Given the description of an element on the screen output the (x, y) to click on. 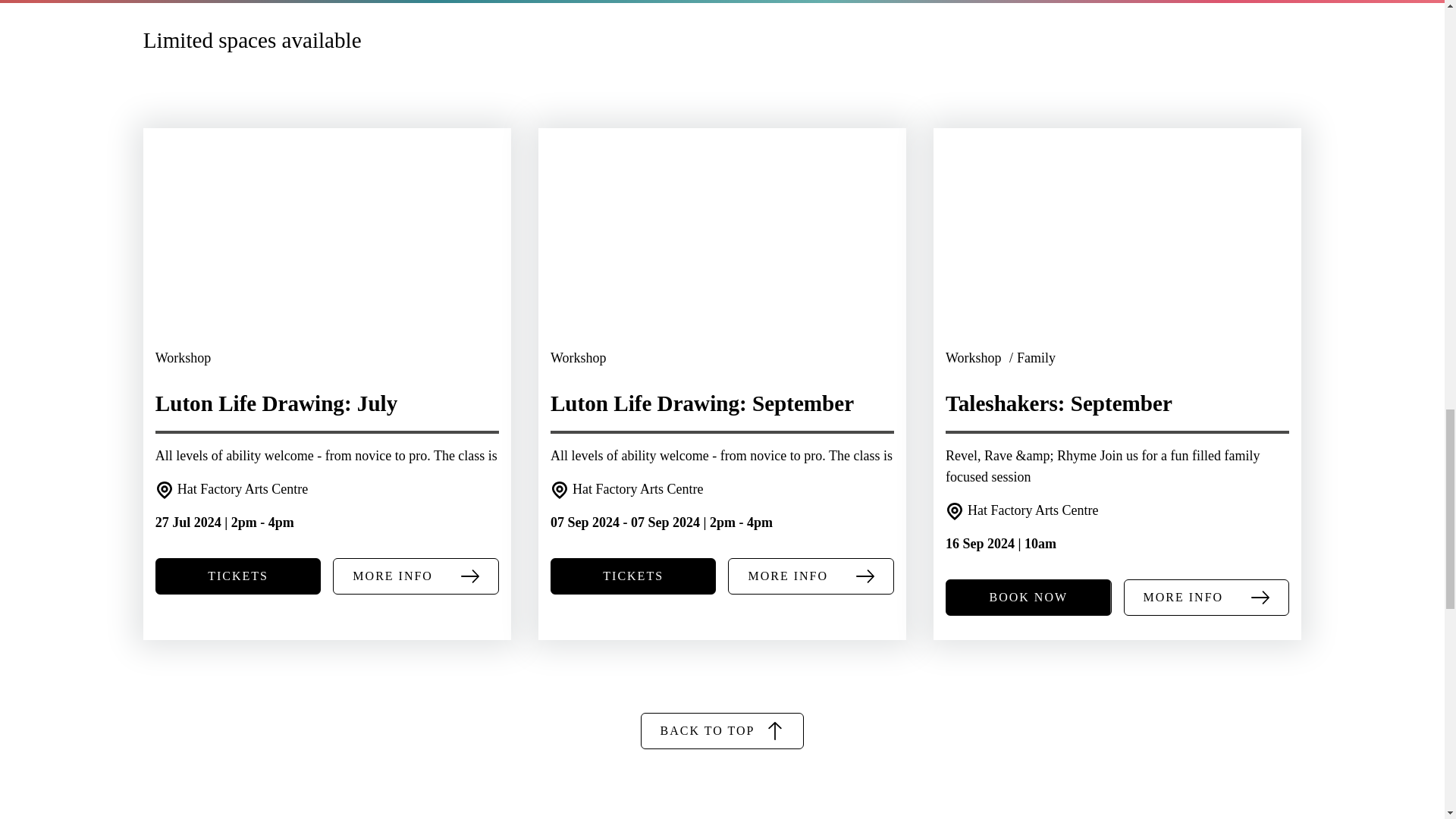
Workshop  (578, 357)
Workshop  (183, 357)
More info (1207, 597)
Luton Life Drawing: July (327, 252)
Family  (1035, 357)
Workshop  (974, 357)
Taleshakers: September (1116, 252)
More info (810, 575)
Luton Life Drawing: September (721, 252)
More info (416, 575)
BACK TO TOP (722, 730)
